Given the description of an element on the screen output the (x, y) to click on. 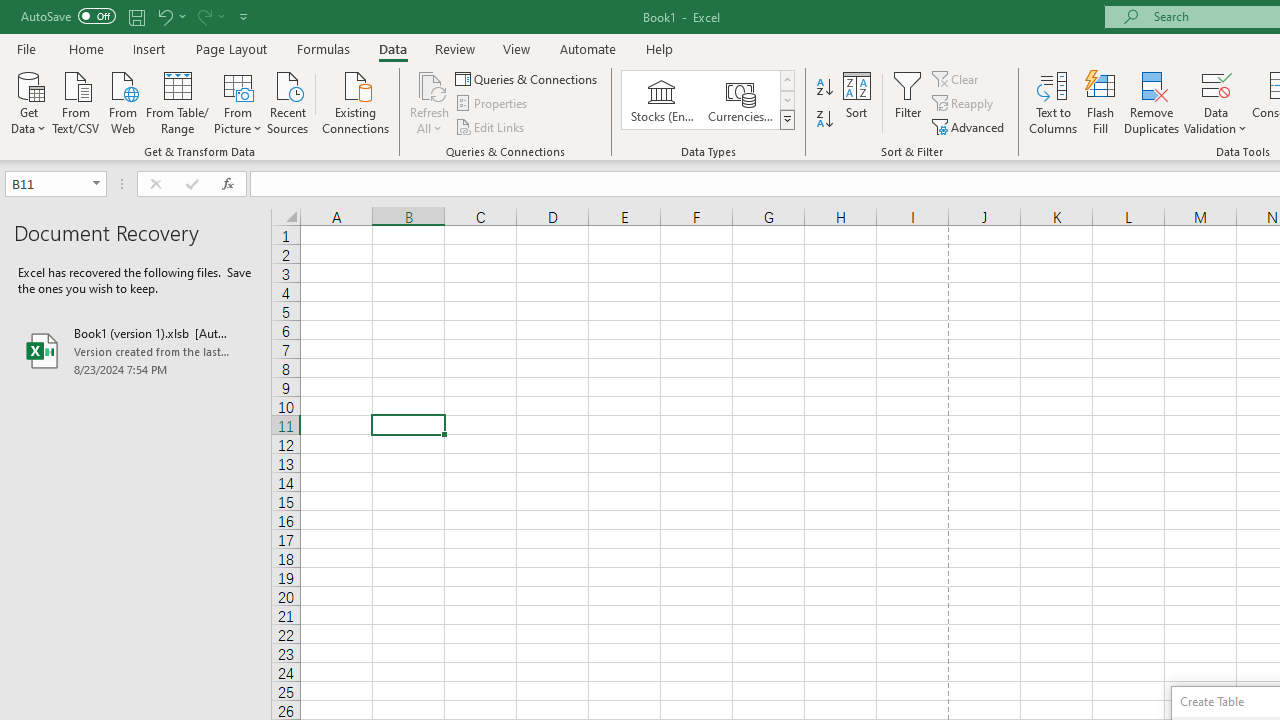
From Picture (238, 101)
Sort... (856, 102)
Row up (786, 79)
Queries & Connections (527, 78)
Existing Connections (355, 101)
Recent Sources (287, 101)
Book1 (version 1).xlsb  [AutoRecovered] (136, 350)
Edit Links (491, 126)
